Given the description of an element on the screen output the (x, y) to click on. 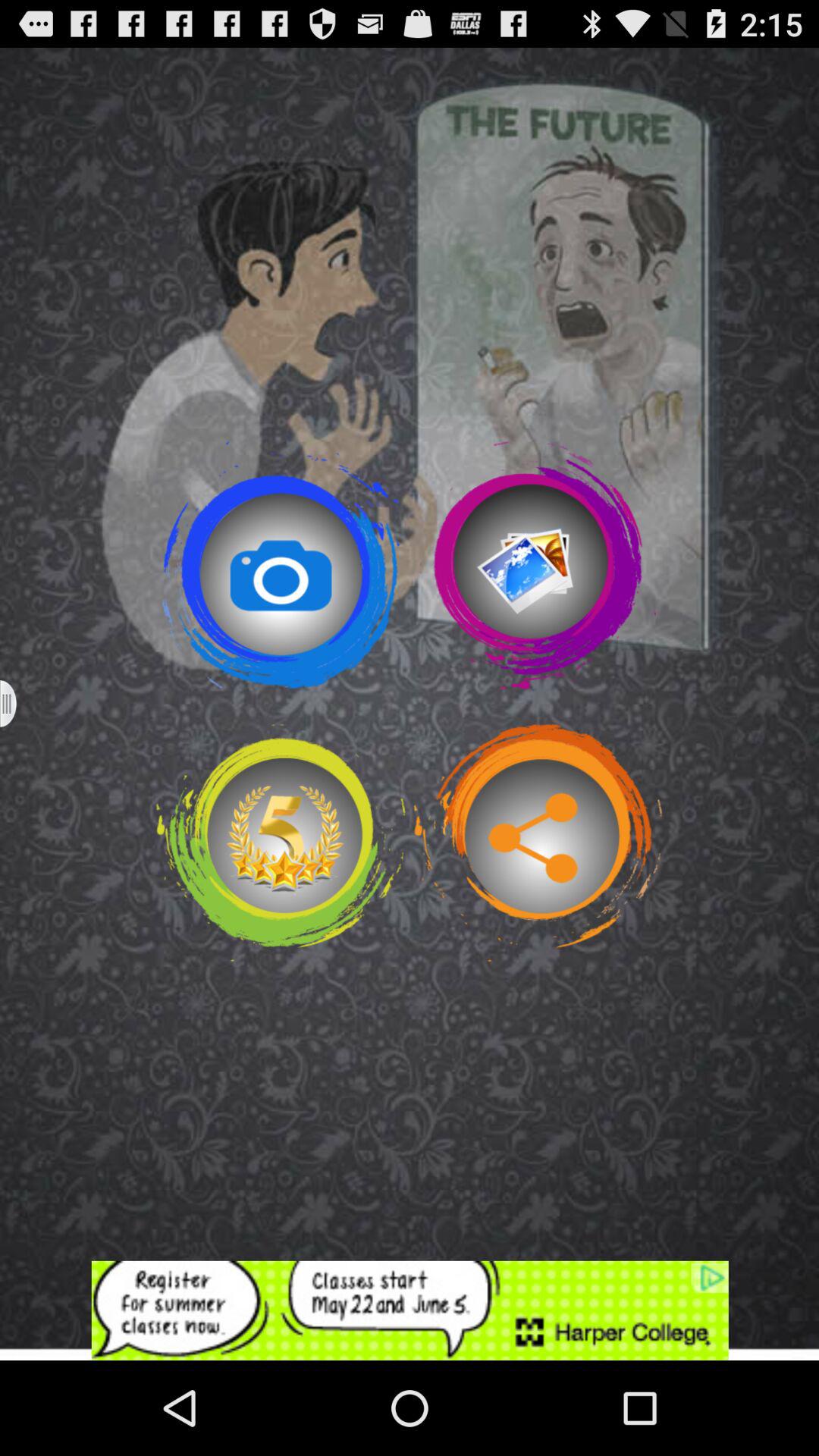
select camera (280, 564)
